Given the description of an element on the screen output the (x, y) to click on. 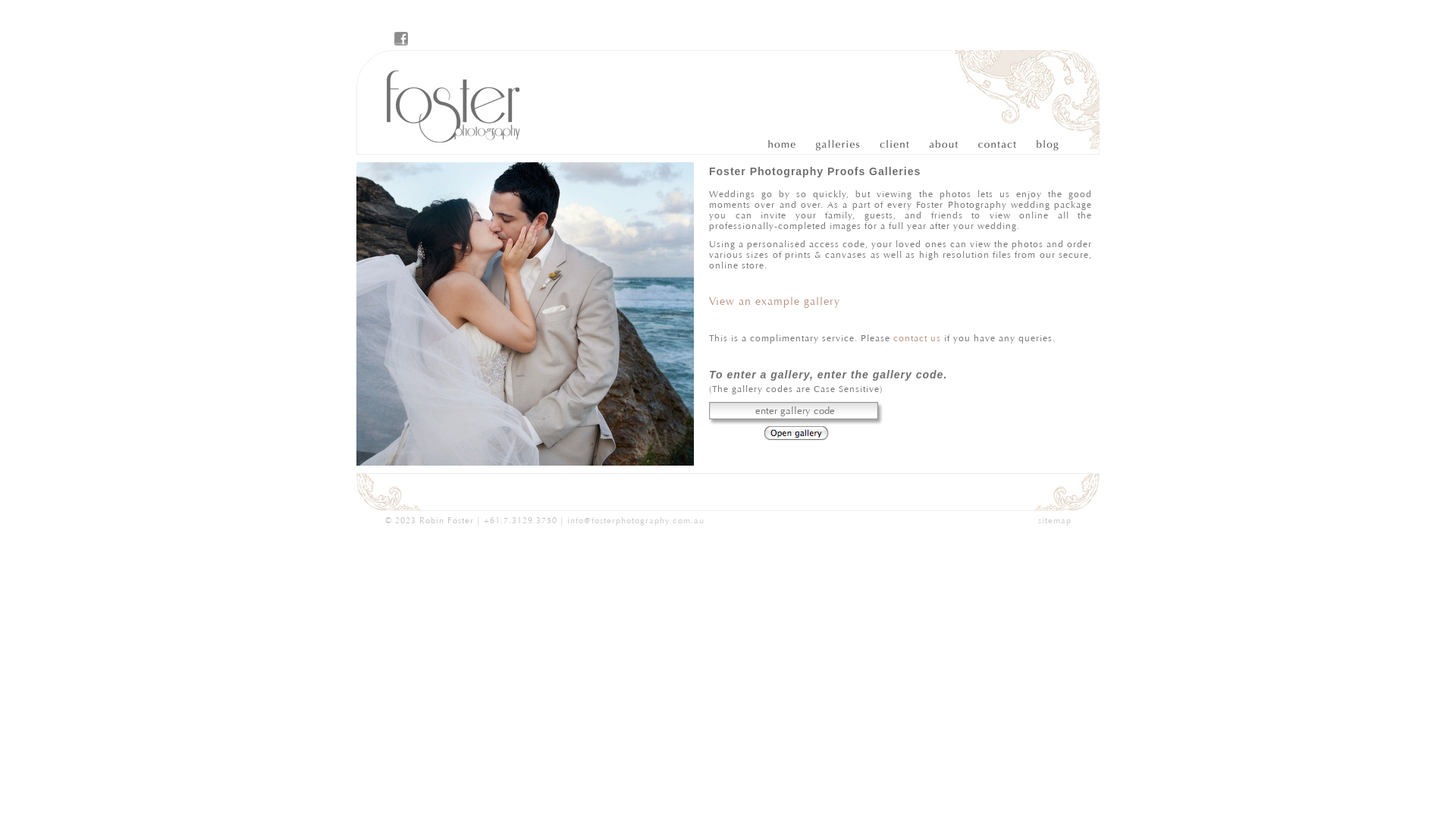
info@fosterphotography.com.au Element type: text (635, 519)
contact us Element type: text (917, 338)
sitemap Element type: text (1053, 520)
View an example gallery Element type: text (774, 300)
Foster Photography Element type: hover (443, 102)
Read the latest news from Foster Photography Element type: hover (1040, 144)
Who is Foster Photography? Element type: hover (940, 144)
Visit Foster Photography on Facebook Element type: hover (400, 38)
Foster Photography Element type: hover (790, 144)
Contact Foster Photography Element type: hover (990, 144)
